Given the description of an element on the screen output the (x, y) to click on. 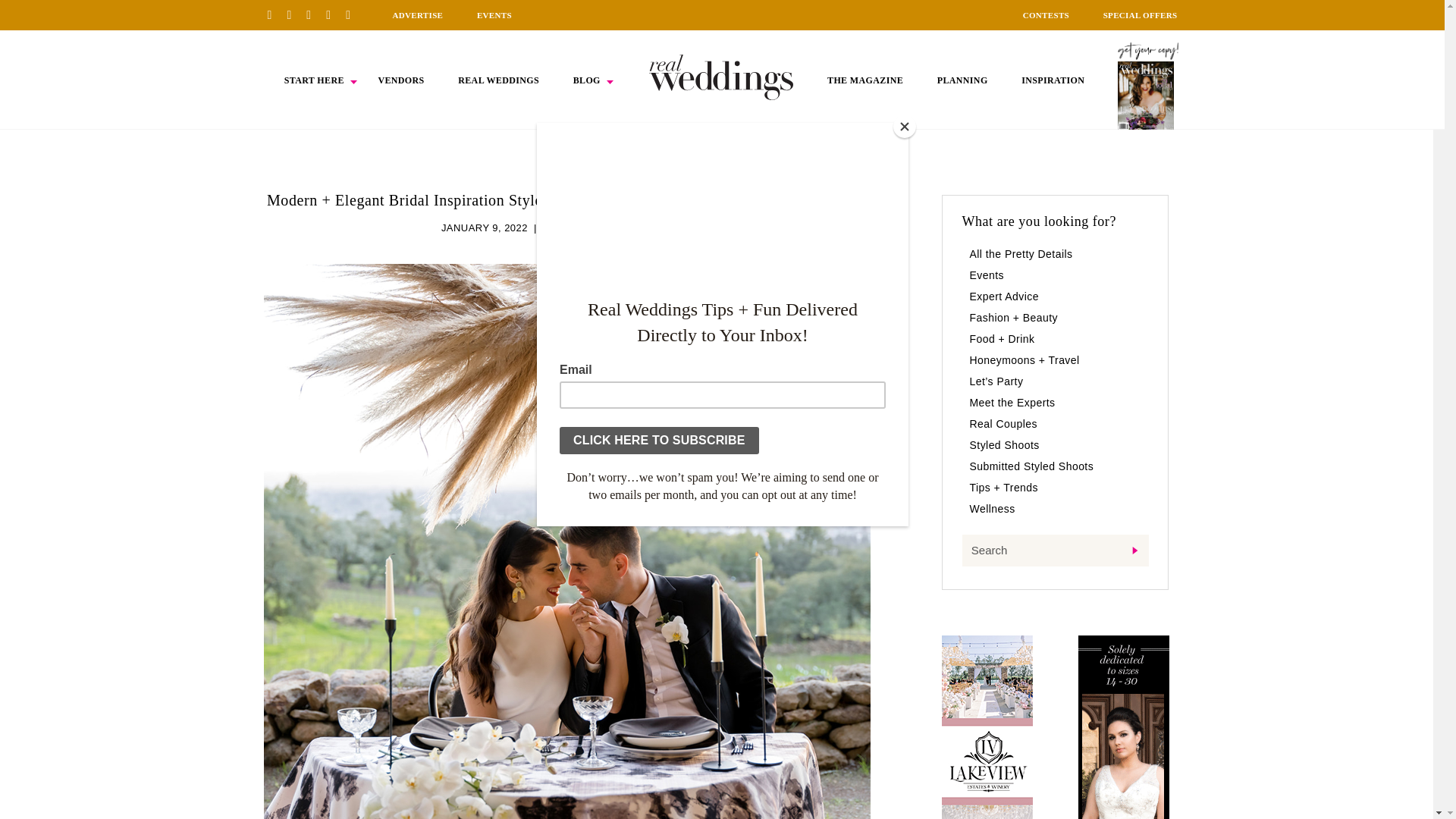
REAL WEDDINGS (498, 80)
Twitter (334, 14)
BLOG (586, 80)
HOME (721, 76)
SPECIAL OFFERS (1140, 14)
Search (1054, 550)
THE MAGAZINE (864, 80)
SUBMITTED STYLED SHOOTS (618, 227)
Search (1054, 550)
EVENTS (494, 14)
YouTube (353, 14)
ADVERTISE (416, 14)
CONTESTS (1045, 14)
INSPIRATION (1053, 80)
PLANNING (962, 80)
